Given the description of an element on the screen output the (x, y) to click on. 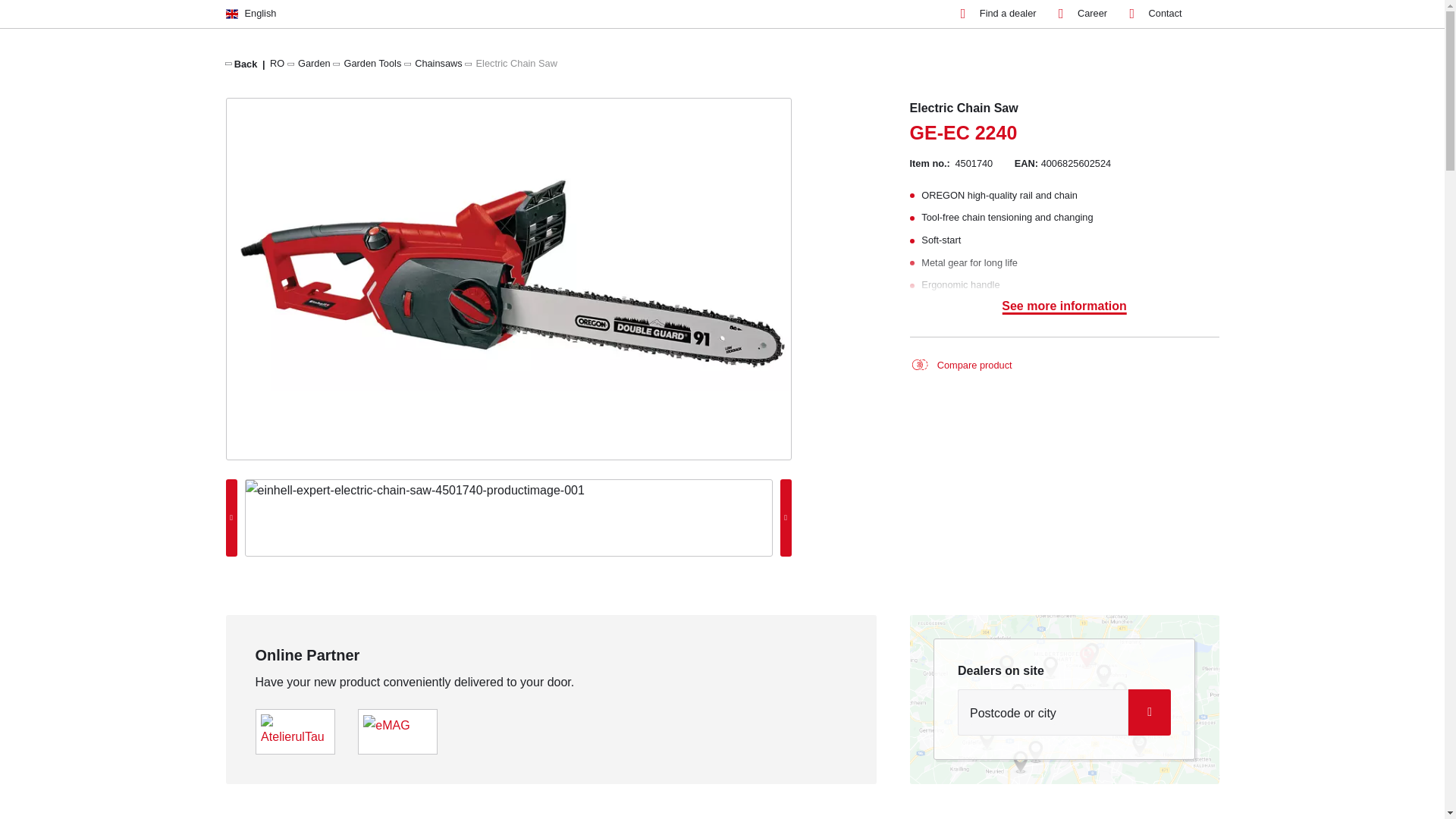
Find a dealer (998, 13)
RO (276, 62)
Career (1082, 13)
eMAG (385, 724)
Chainsaws (438, 62)
Garden Tools (372, 62)
Garden (314, 62)
AtelierulTau (294, 730)
Contact (1155, 13)
